Given the description of an element on the screen output the (x, y) to click on. 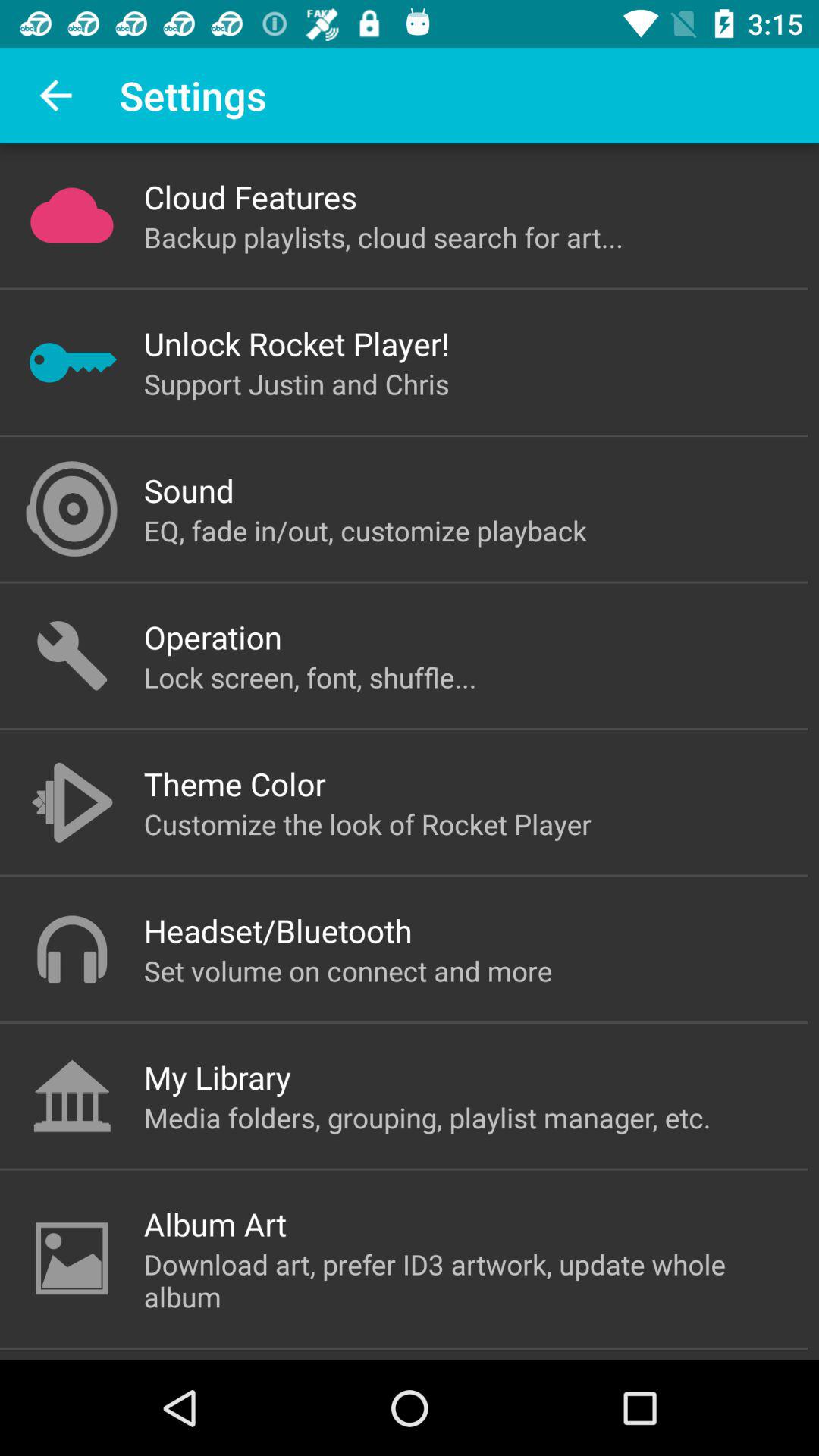
click on the icon beside theme color (71, 802)
